Given the description of an element on the screen output the (x, y) to click on. 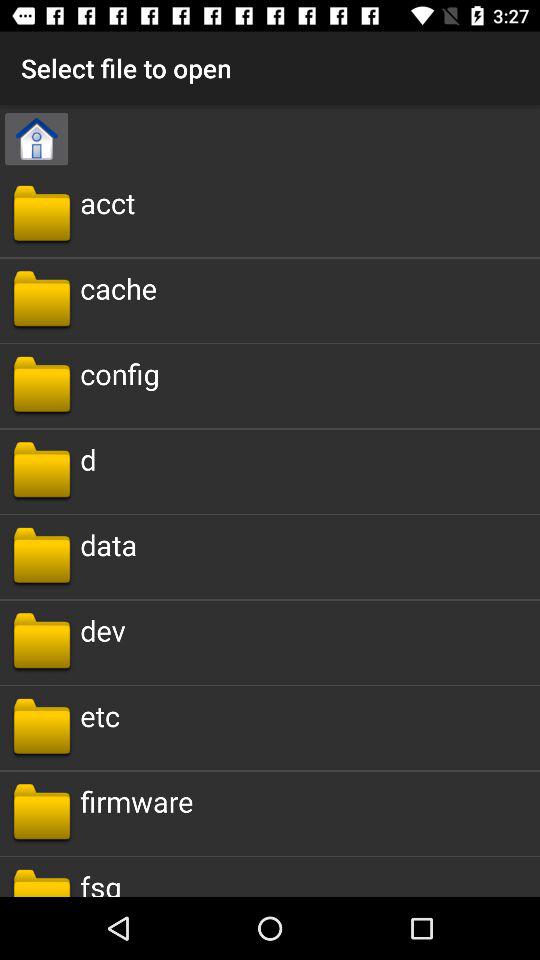
press the app below select file to (36, 139)
